Given the description of an element on the screen output the (x, y) to click on. 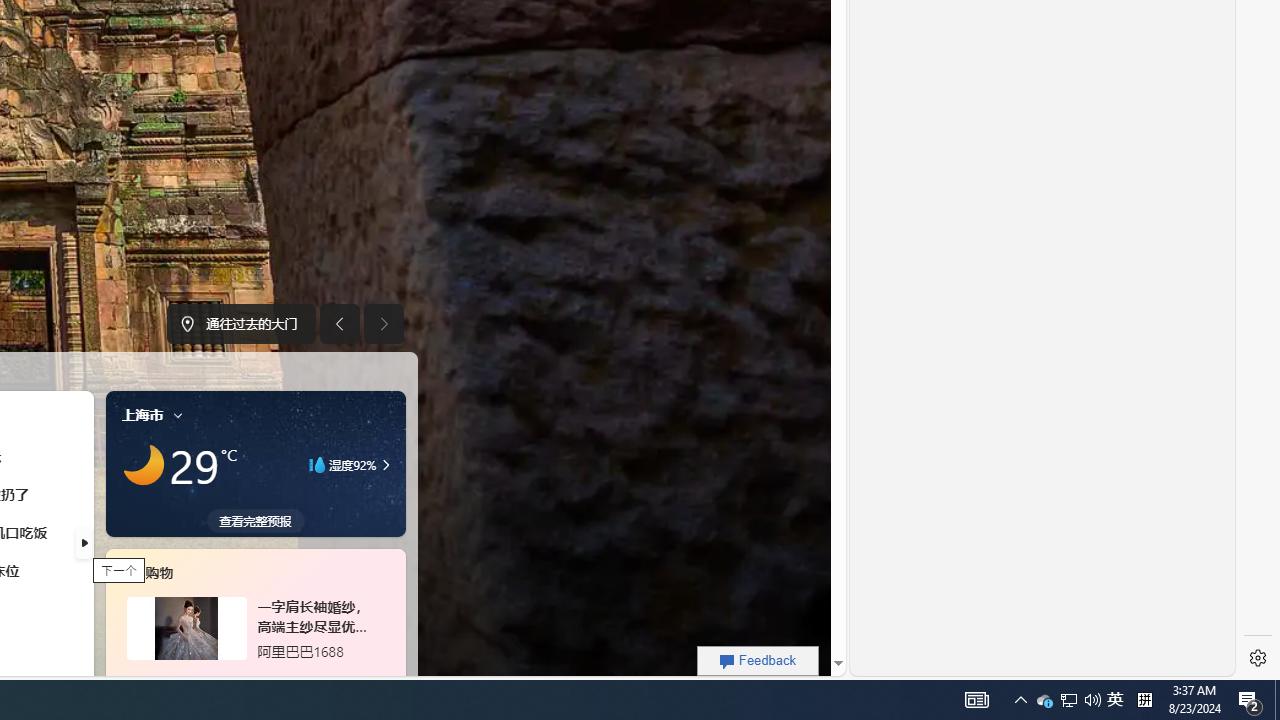
tab-10 (291, 678)
tab-9 (278, 678)
Class: icon-img (177, 414)
tab-5 (231, 678)
Next image (383, 323)
tab-6 (242, 678)
Previous image (338, 323)
